Given the description of an element on the screen output the (x, y) to click on. 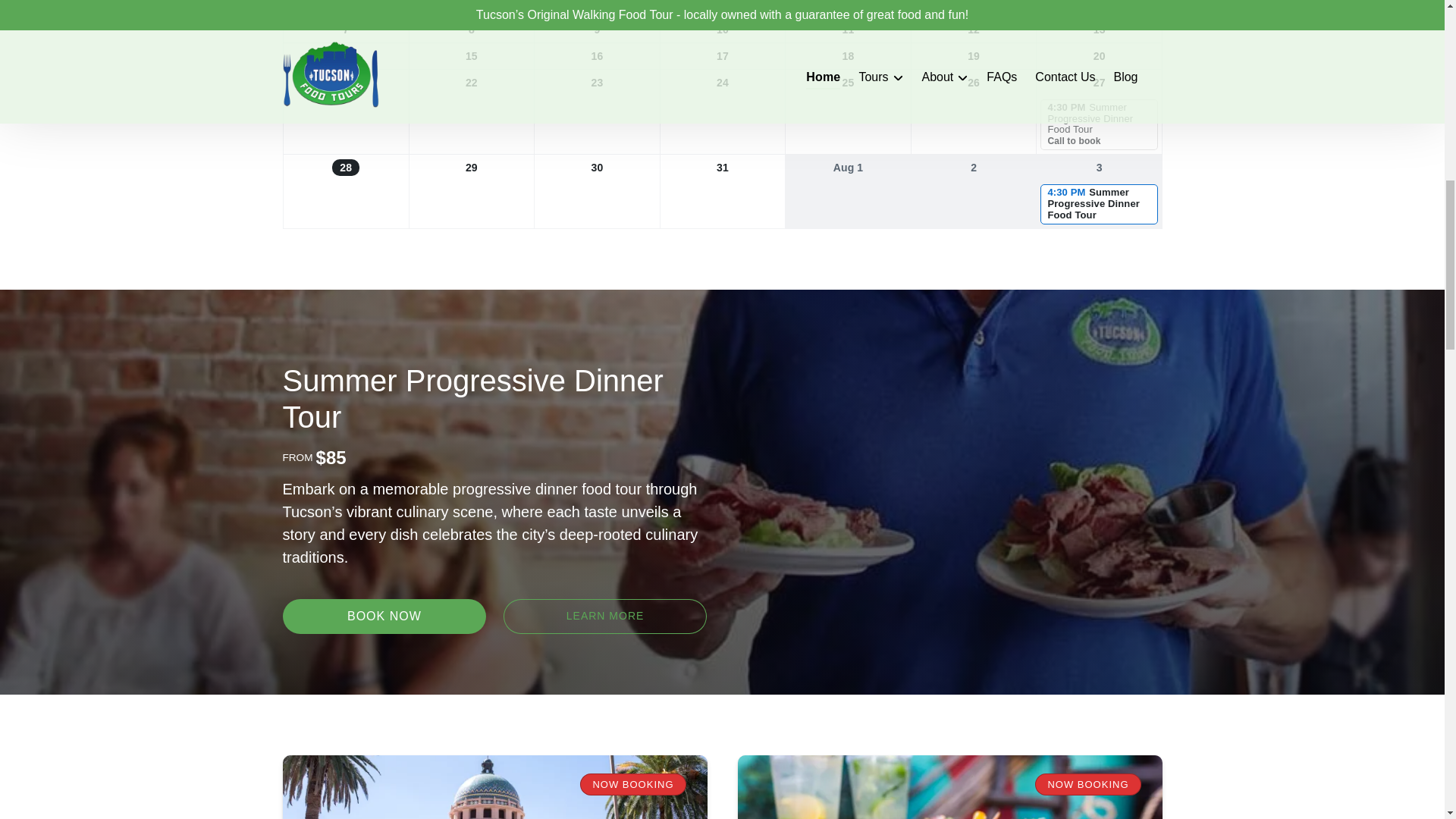
LEARN MORE (605, 615)
BOOK NOW (384, 615)
Summer Progressive Dinner Tour (472, 398)
FareHarbor (1342, 64)
